Given the description of an element on the screen output the (x, y) to click on. 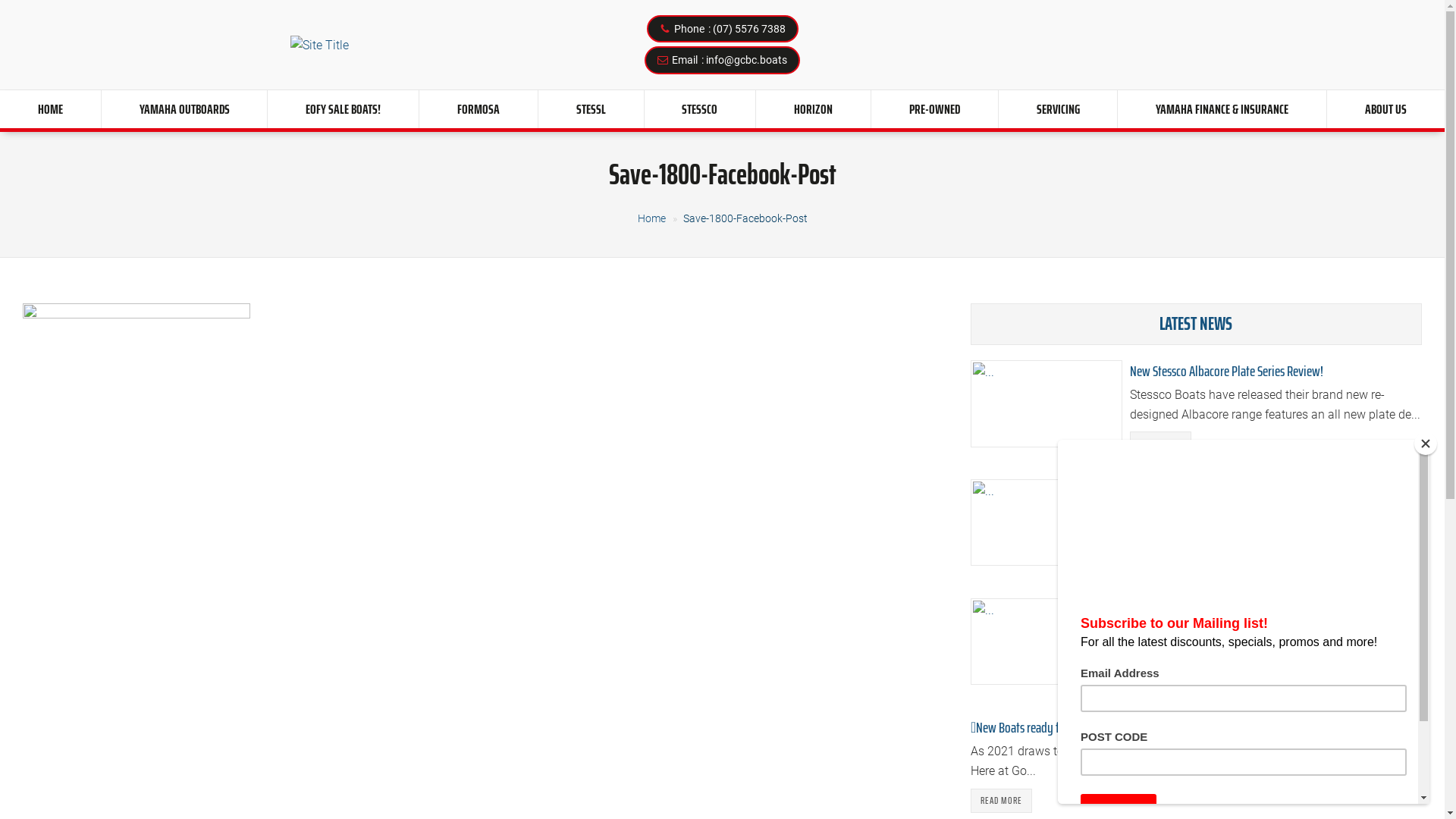
READ MORE Element type: text (1001, 800)
PRE-OWNED Element type: text (934, 109)
STESSCO Element type: text (700, 109)
... Element type: hover (318, 44)
EOFY SALE BOATS! Element type: text (342, 109)
READ MORE Element type: text (1160, 562)
READ MORE Element type: text (1160, 443)
STESSL Element type: text (590, 109)
ABOUT US Element type: text (1385, 109)
Stessl 730 Coastrunner Review Element type: text (1198, 489)
GCBC'S EOFY BOAT SALE Element type: text (1181, 608)
HOME Element type: text (50, 109)
READ MORE Element type: text (1160, 681)
SERVICING Element type: text (1057, 109)
HORIZON Element type: text (813, 109)
info@gcbc.boats Element type: text (746, 59)
YAMAHA FINANCE & INSURANCE Element type: text (1221, 109)
YAMAHA OUTBOARDS Element type: text (184, 109)
Home Element type: text (651, 218)
(07) 5576 7388 Element type: text (748, 28)
New Stessco Albacore Plate Series Review! Element type: text (1226, 370)
FORMOSA Element type: text (478, 109)
